Given the description of an element on the screen output the (x, y) to click on. 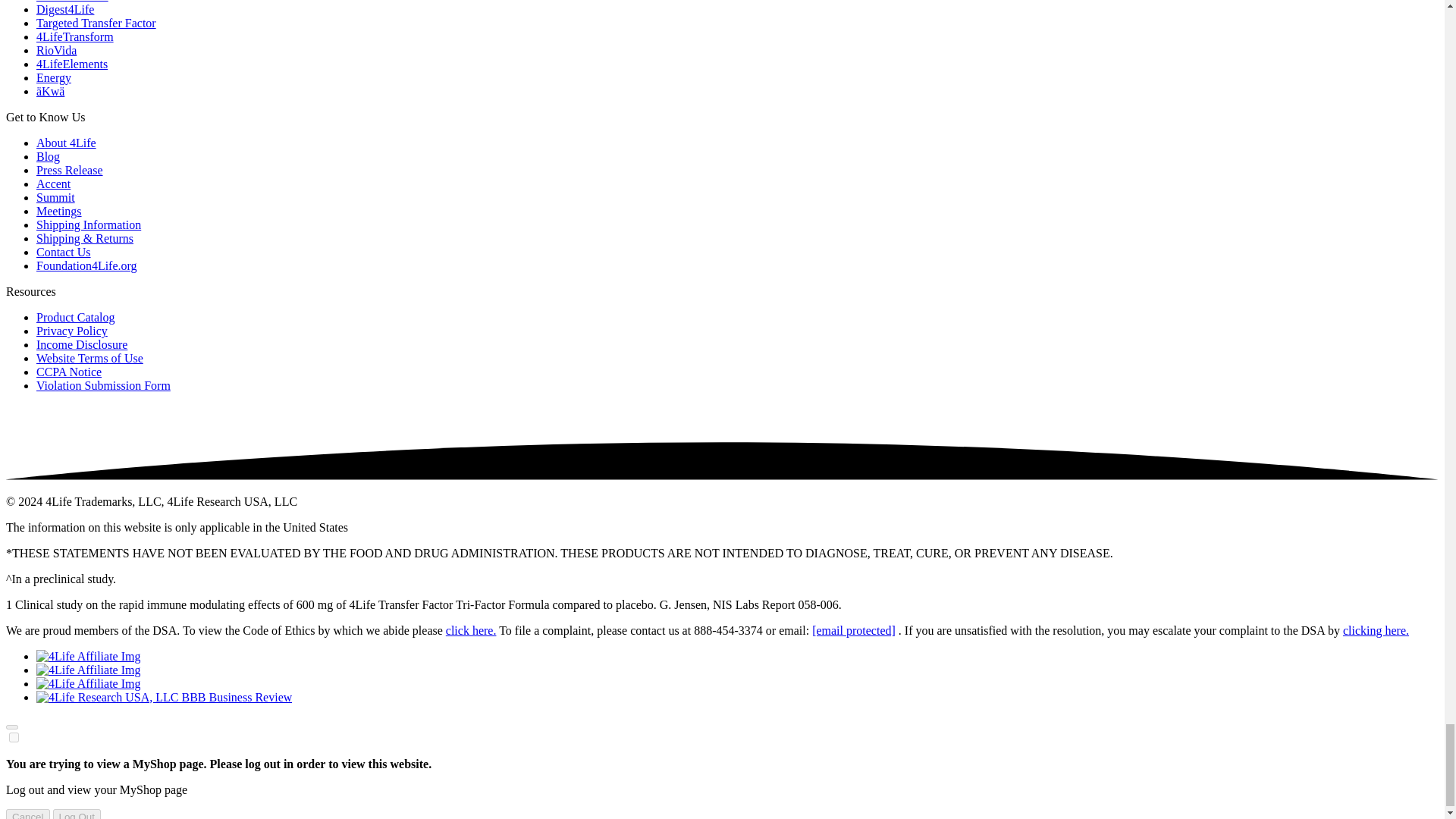
on (13, 737)
